Given the description of an element on the screen output the (x, y) to click on. 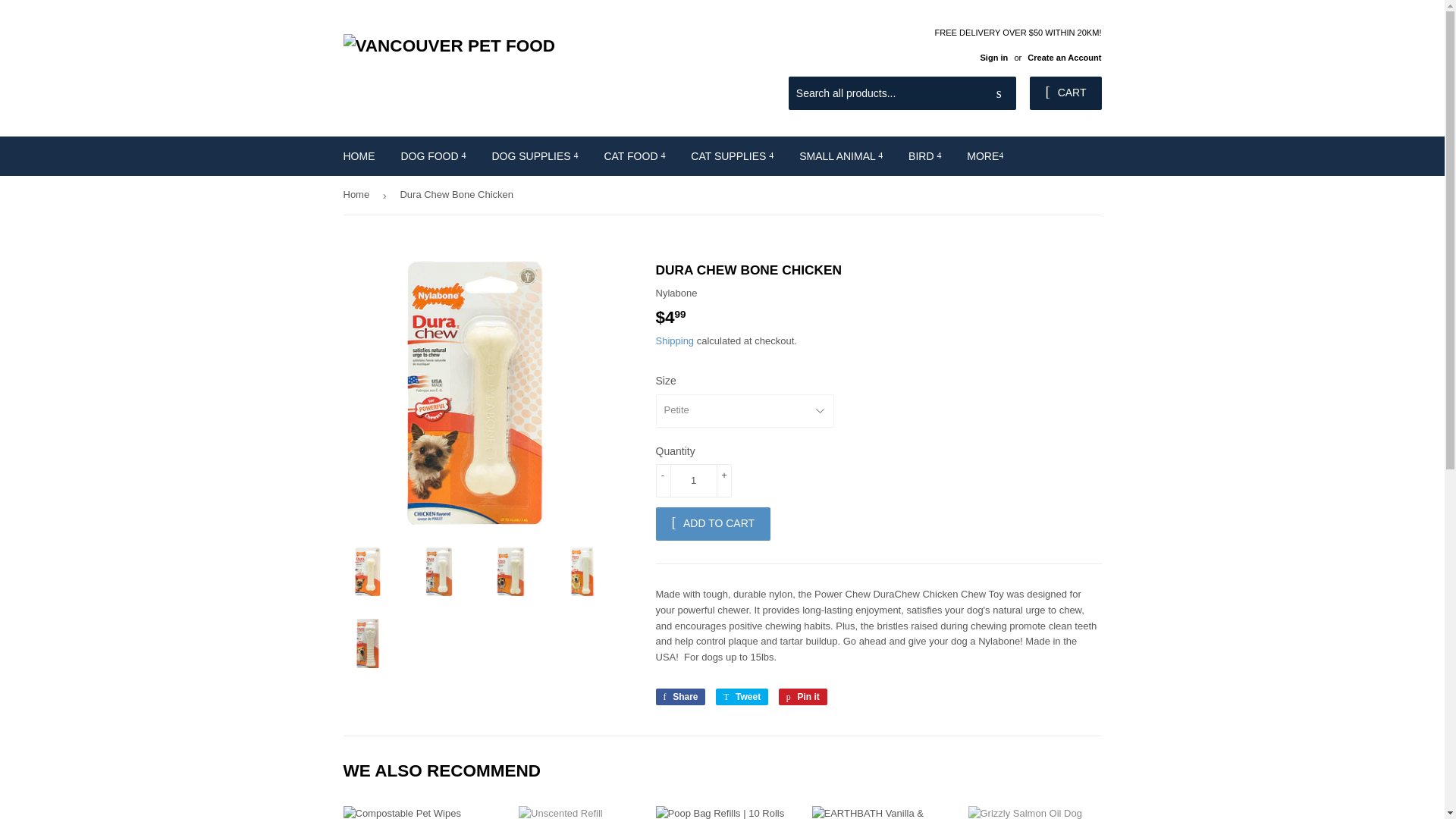
Create an Account (1063, 57)
1 (692, 480)
Tweet on Twitter (742, 696)
Sign in (993, 57)
Share on Facebook (679, 696)
Search (998, 93)
CART (1064, 92)
Pin on Pinterest (802, 696)
